Given the description of an element on the screen output the (x, y) to click on. 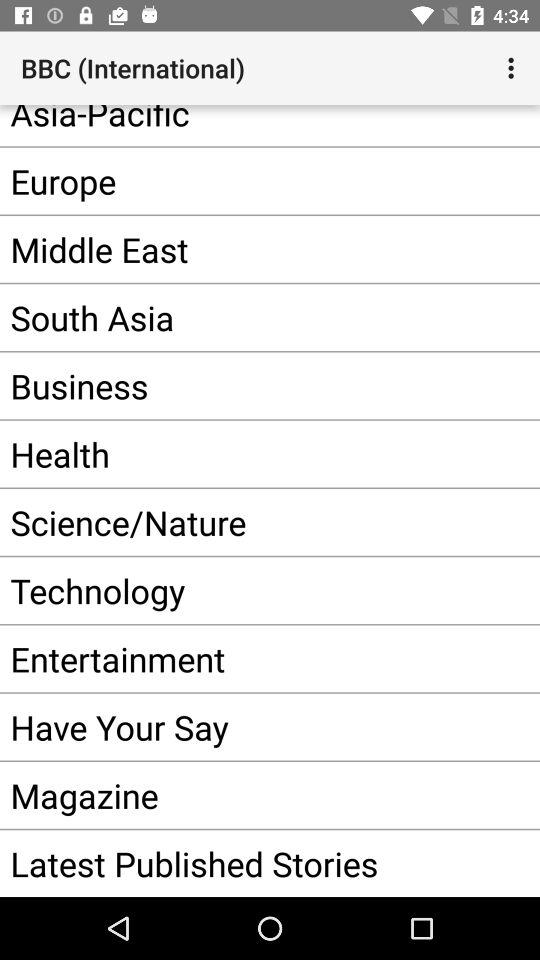
swipe until the health (240, 453)
